Given the description of an element on the screen output the (x, y) to click on. 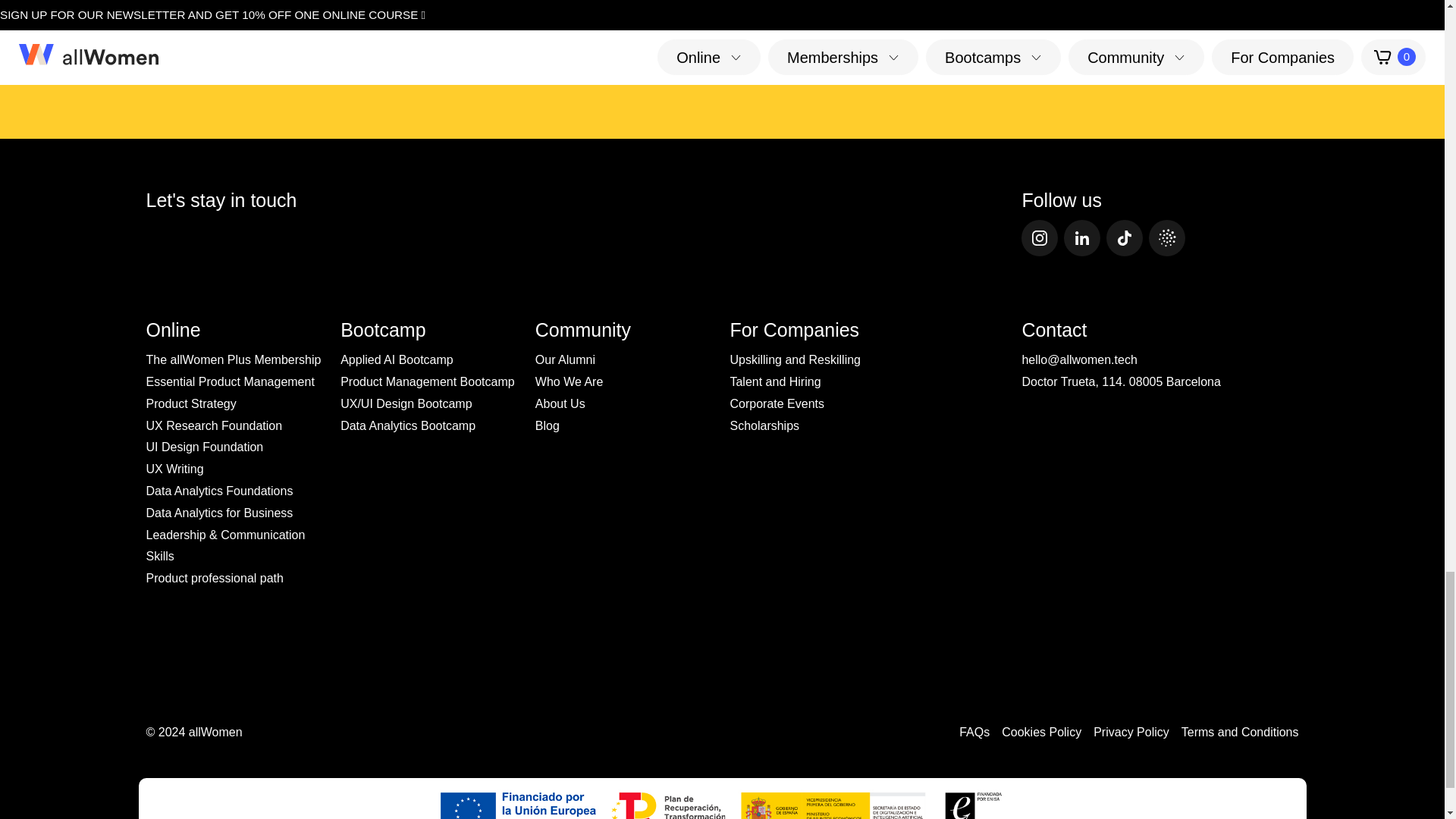
Contact us (722, 15)
Essential Product Management (229, 381)
The allWomen Plus Membership (232, 359)
Product Strategy (190, 403)
